Given the description of an element on the screen output the (x, y) to click on. 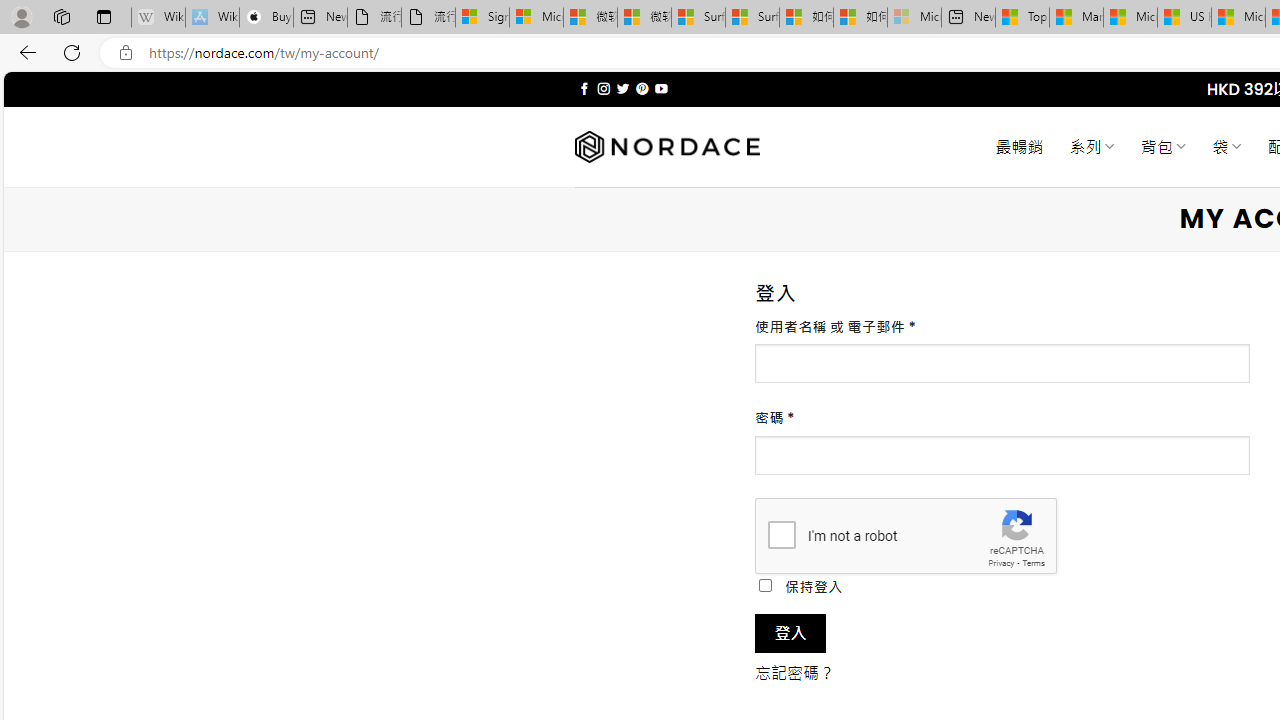
Marine life - MSN (1076, 17)
I'm not a robot (782, 533)
